Given the description of an element on the screen output the (x, y) to click on. 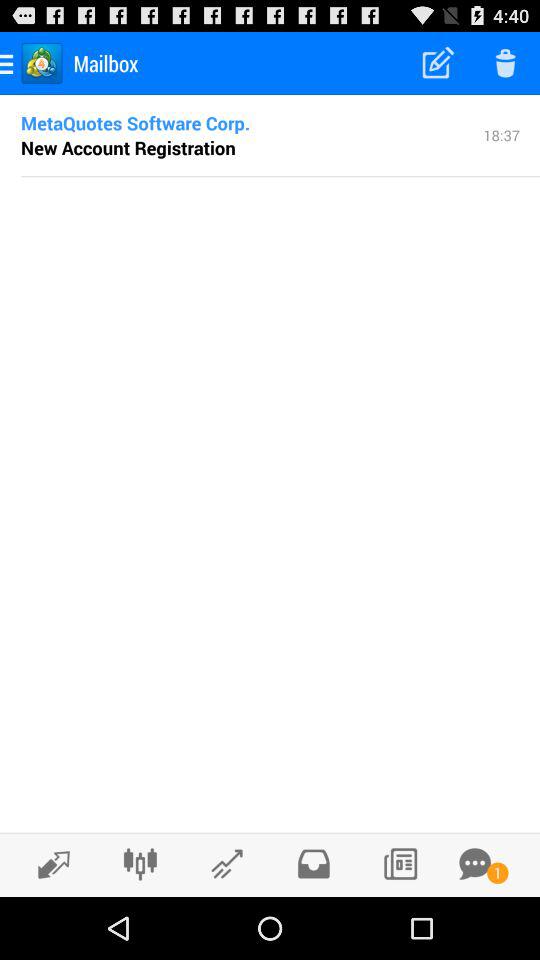
choose icon at the top (280, 176)
